Given the description of an element on the screen output the (x, y) to click on. 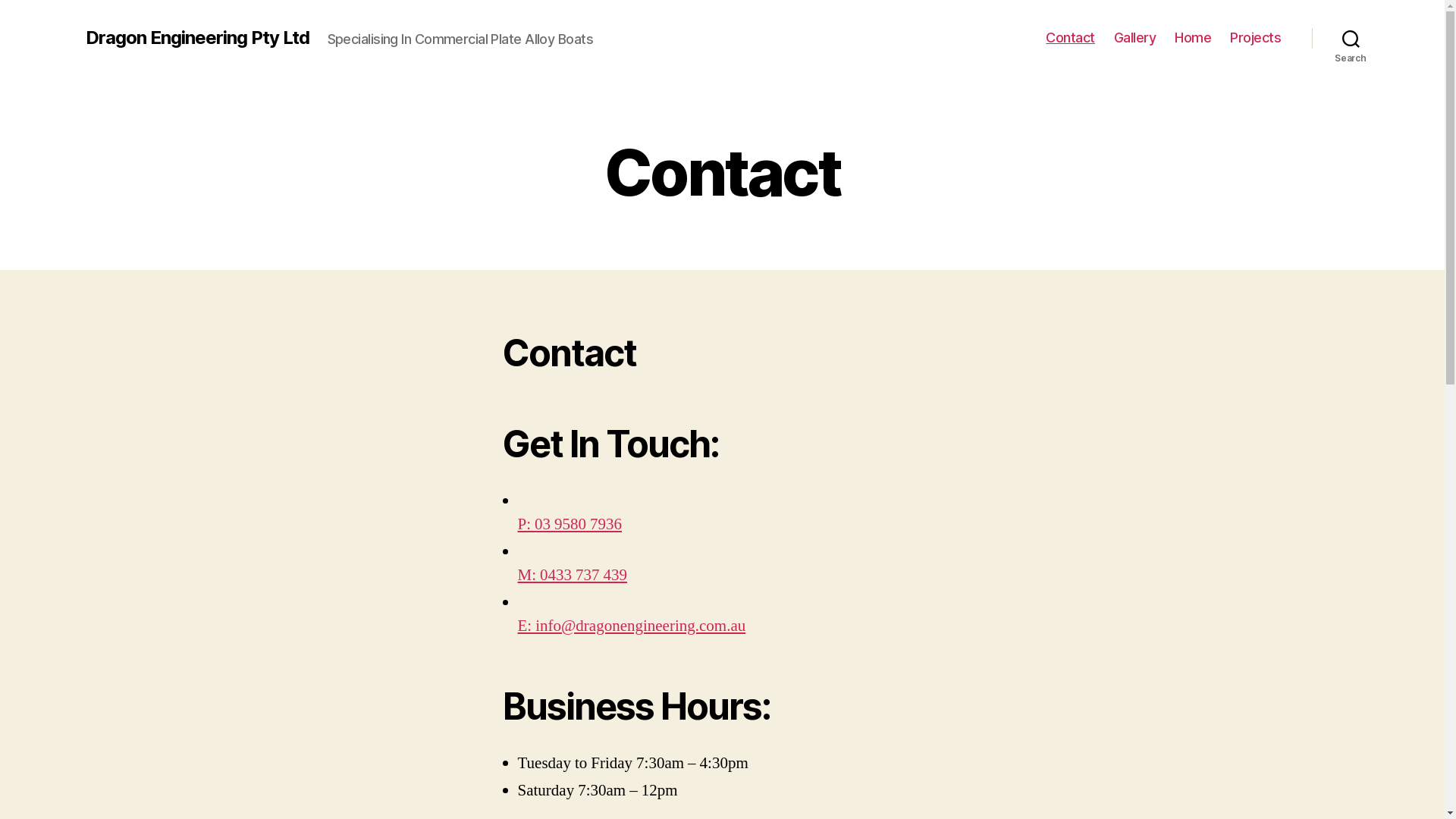
Gallery Element type: text (1134, 37)
M: 0433 737 439 Element type: text (572, 586)
Dragon Engineering Pty Ltd Element type: text (196, 37)
P: 03 9580 7936 Element type: text (569, 536)
Home Element type: text (1192, 37)
E: info@dragonengineering.com.au Element type: text (631, 637)
Projects Element type: text (1255, 37)
Contact Element type: text (1070, 37)
Search Element type: text (1350, 37)
